Given the description of an element on the screen output the (x, y) to click on. 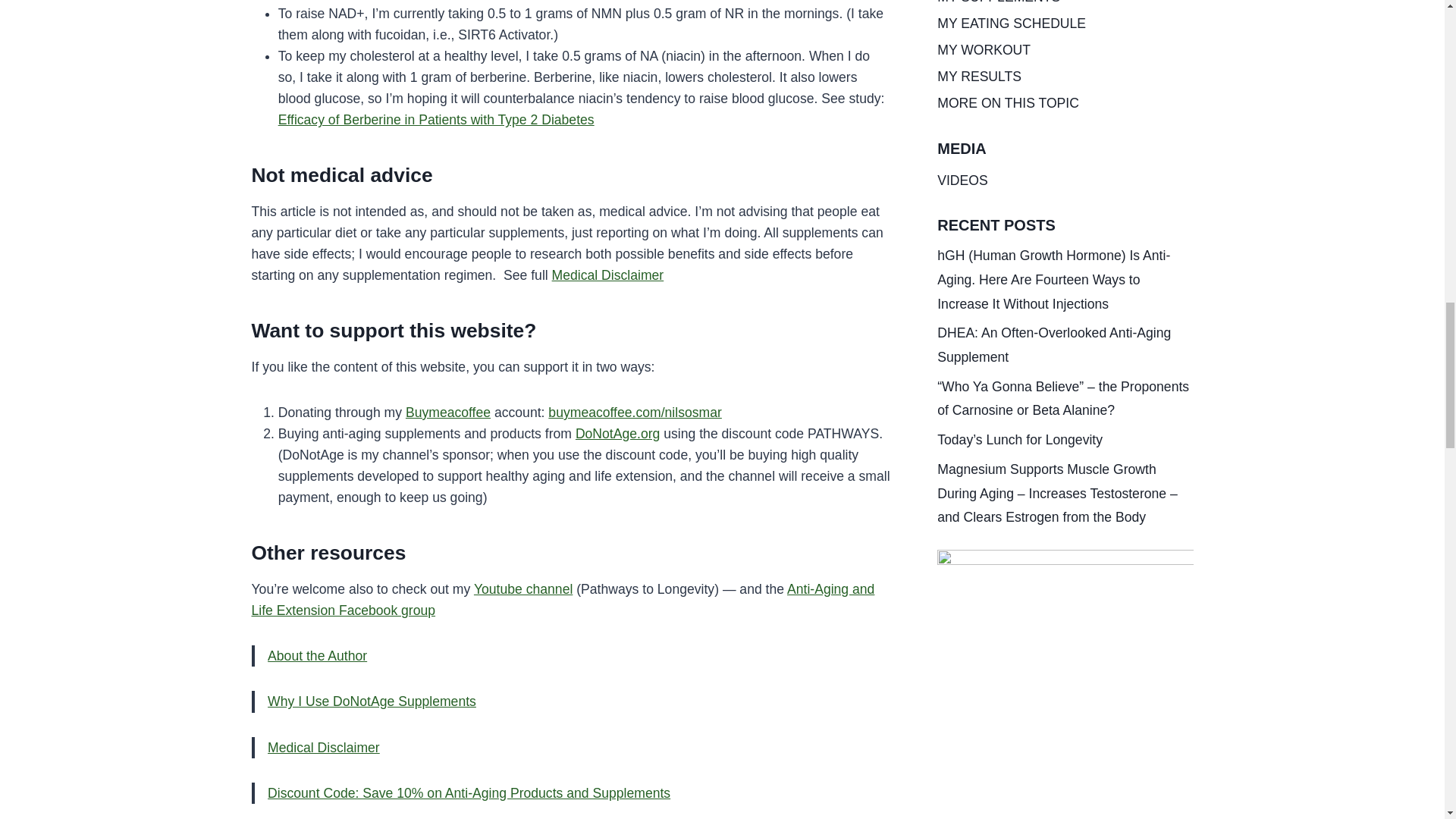
Ocular Effects of Niacin: A Review of the Literature (554, 13)
Efficacy of Berberine in Patients with Type 2 Diabetes (436, 348)
See study (652, 64)
